Given the description of an element on the screen output the (x, y) to click on. 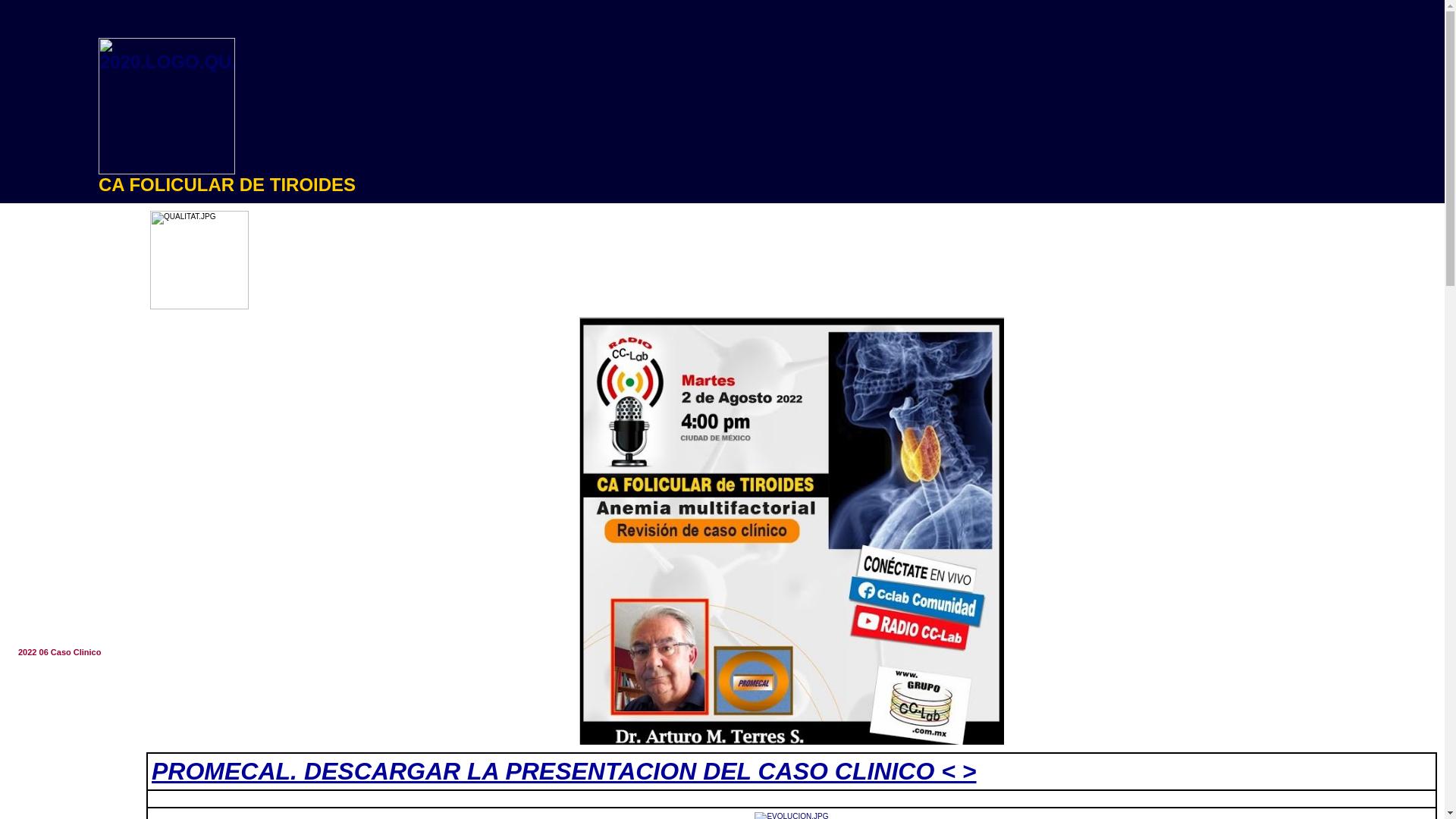
ACREDITACION Element type: text (69, 278)
2022 09 Caso Clinico Element type: text (69, 718)
WELCOME Element type: text (69, 256)
2022 06 Caso Clinico Element type: text (69, 652)
2022 05 Caso Clinico Element type: text (69, 630)
BIENVENIDOS Element type: text (69, 234)
Diccionario Element type: text (69, 366)
Aviso de Privacidad Element type: text (69, 454)
PROMECAL. DESCARGAR LA PRESENTACION DEL CASO CLINICO < > Element type: text (563, 770)
PROMECAL Relevancia Element type: text (69, 564)
2023 01 Caso Clinico Element type: text (69, 806)
PROMECAL Element type: text (69, 520)
2022 11 Pruebas Dxs Element type: text (69, 762)
CLINICA LABORATORIO Element type: text (69, 498)
2022 10 Caso Clinico Element type: text (69, 740)
Academia 2022 Element type: text (69, 410)
2022 12 Microscopia Element type: text (69, 784)
PROMECAL CASOS Element type: text (69, 586)
PROMECAL Idoneidad Element type: text (69, 542)
2022 08 Caso Clinico Element type: text (69, 696)
2022 07 Caso Clinico Element type: text (69, 674)
